Given the description of an element on the screen output the (x, y) to click on. 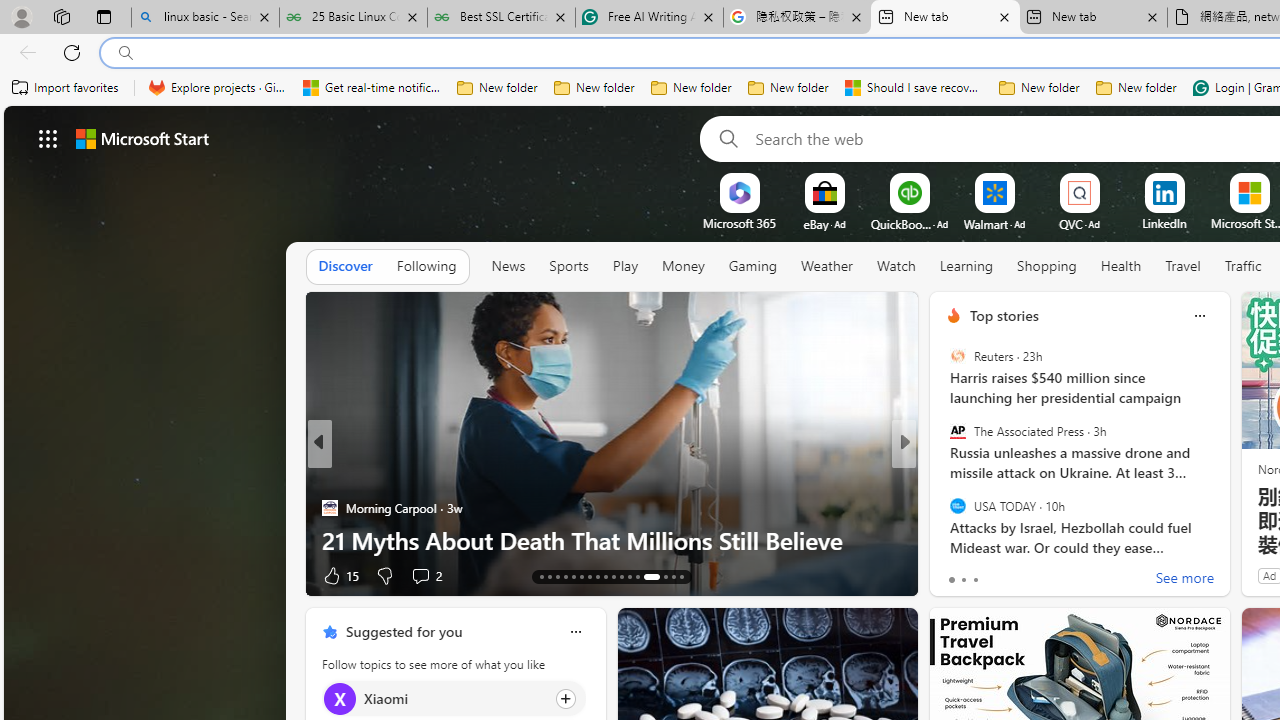
Travel (1183, 265)
Watch (895, 265)
AutomationID: tab-21 (605, 576)
linux basic - Search (205, 17)
Click to follow topic Xiaomi (453, 698)
Health (1121, 267)
AutomationID: tab-22 (613, 576)
Real Simple (944, 507)
